Given the description of an element on the screen output the (x, y) to click on. 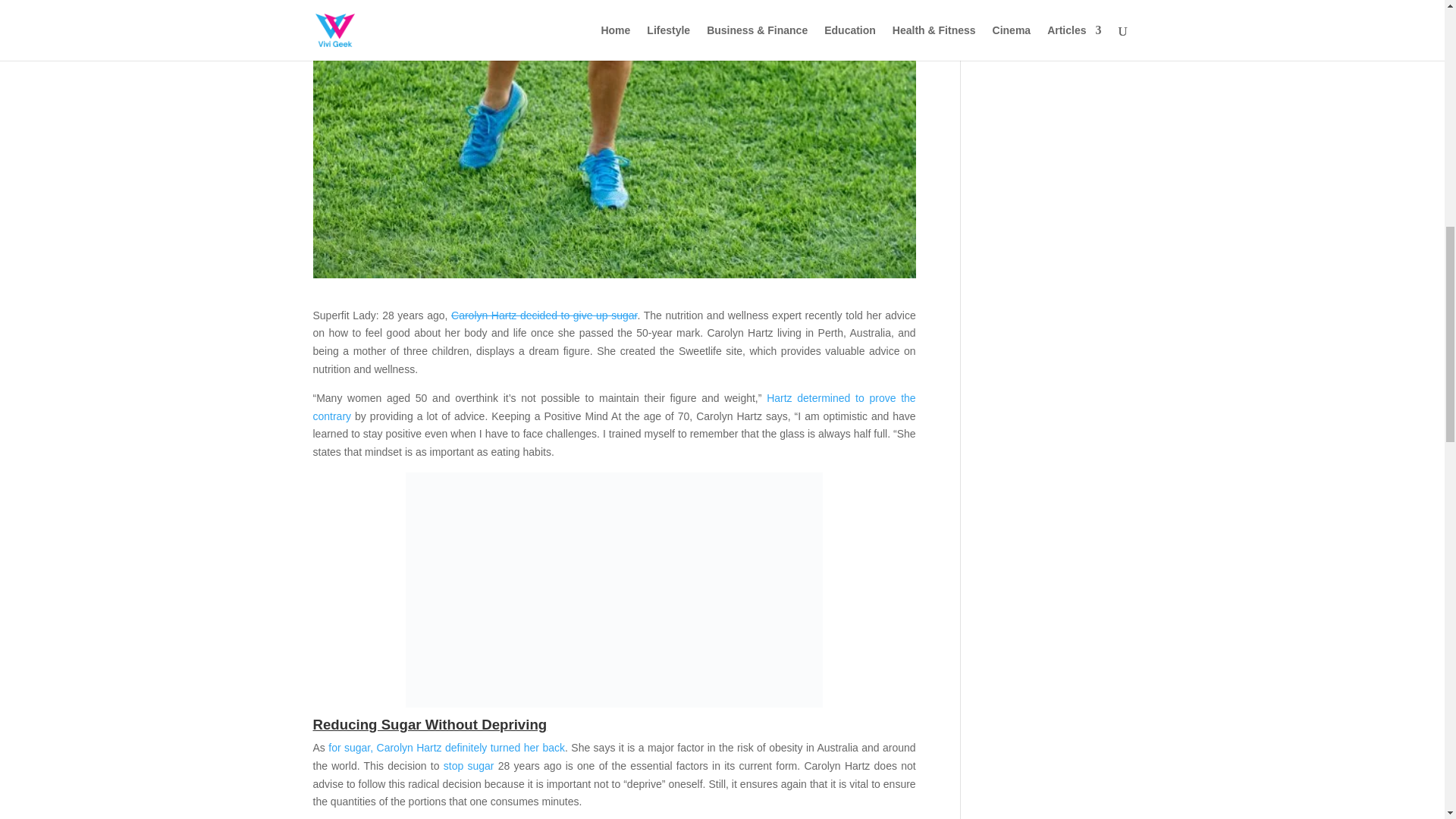
Hartz determined to prove the contrary (614, 407)
for sugar, Carolyn Hartz definitely turned her back (446, 747)
Carolyn Hartz decided to give up sugar (544, 315)
stop sugar (469, 766)
